Given the description of an element on the screen output the (x, y) to click on. 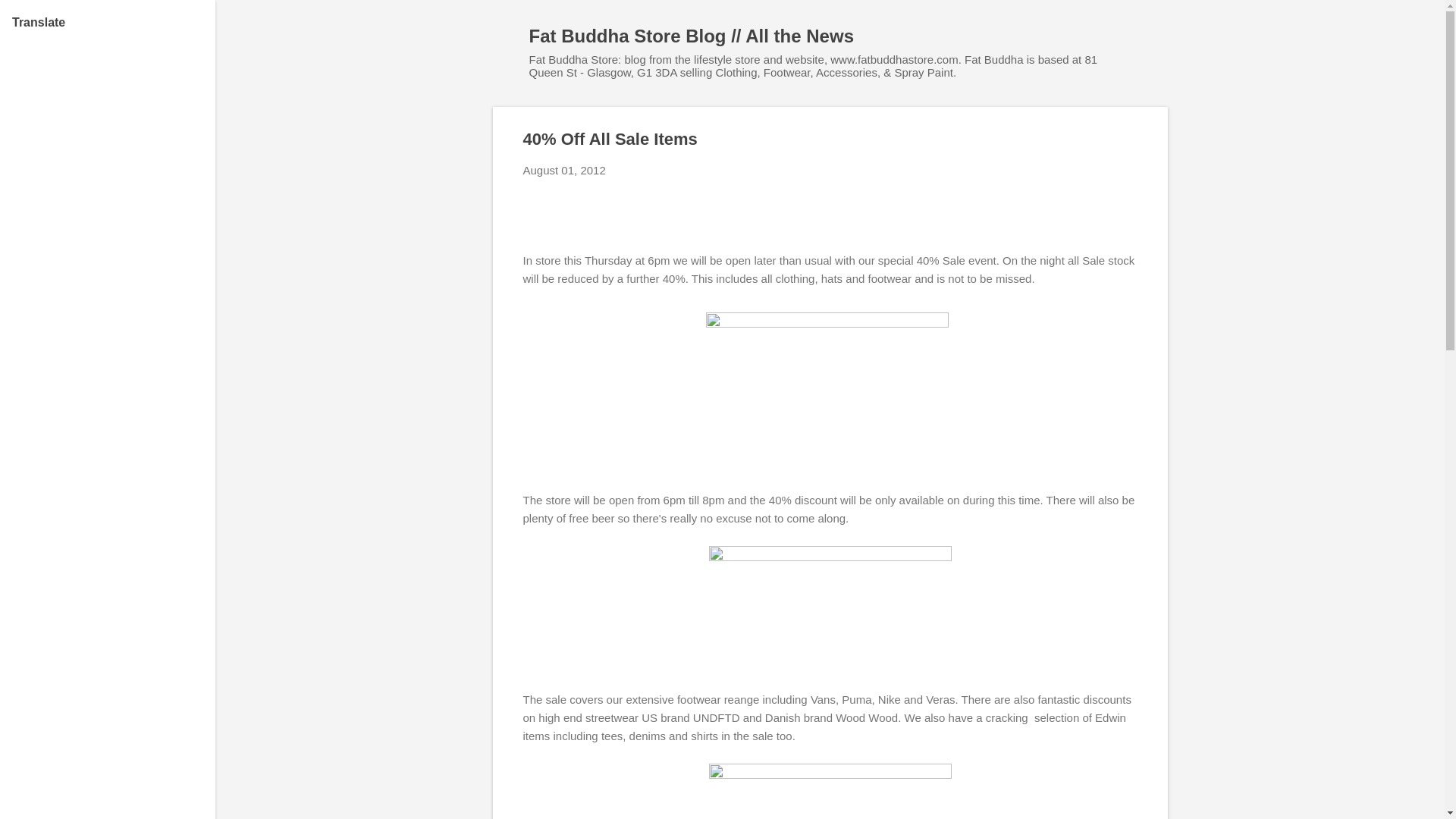
Search (29, 18)
August 01, 2012 (563, 169)
permanent link (563, 169)
